Given the description of an element on the screen output the (x, y) to click on. 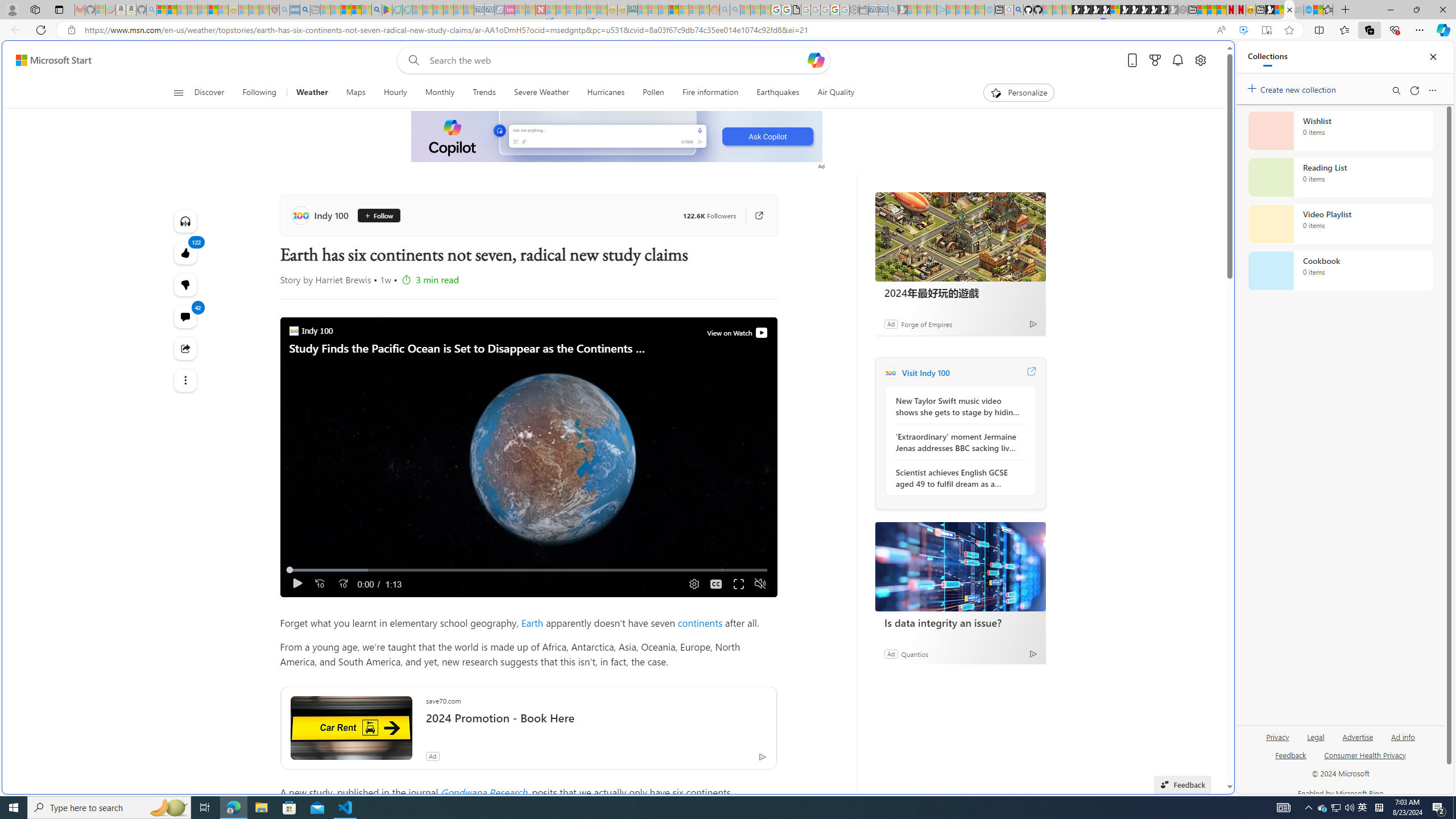
To get missing image descriptions, open the context menu. (617, 136)
Enter Immersive Reader (F9) (1266, 29)
Personalize (1019, 92)
Cheap Hotels - Save70.com - Sleeping (489, 9)
Cheap Car Rentals - Save70.com - Sleeping (882, 9)
